Given the description of an element on the screen output the (x, y) to click on. 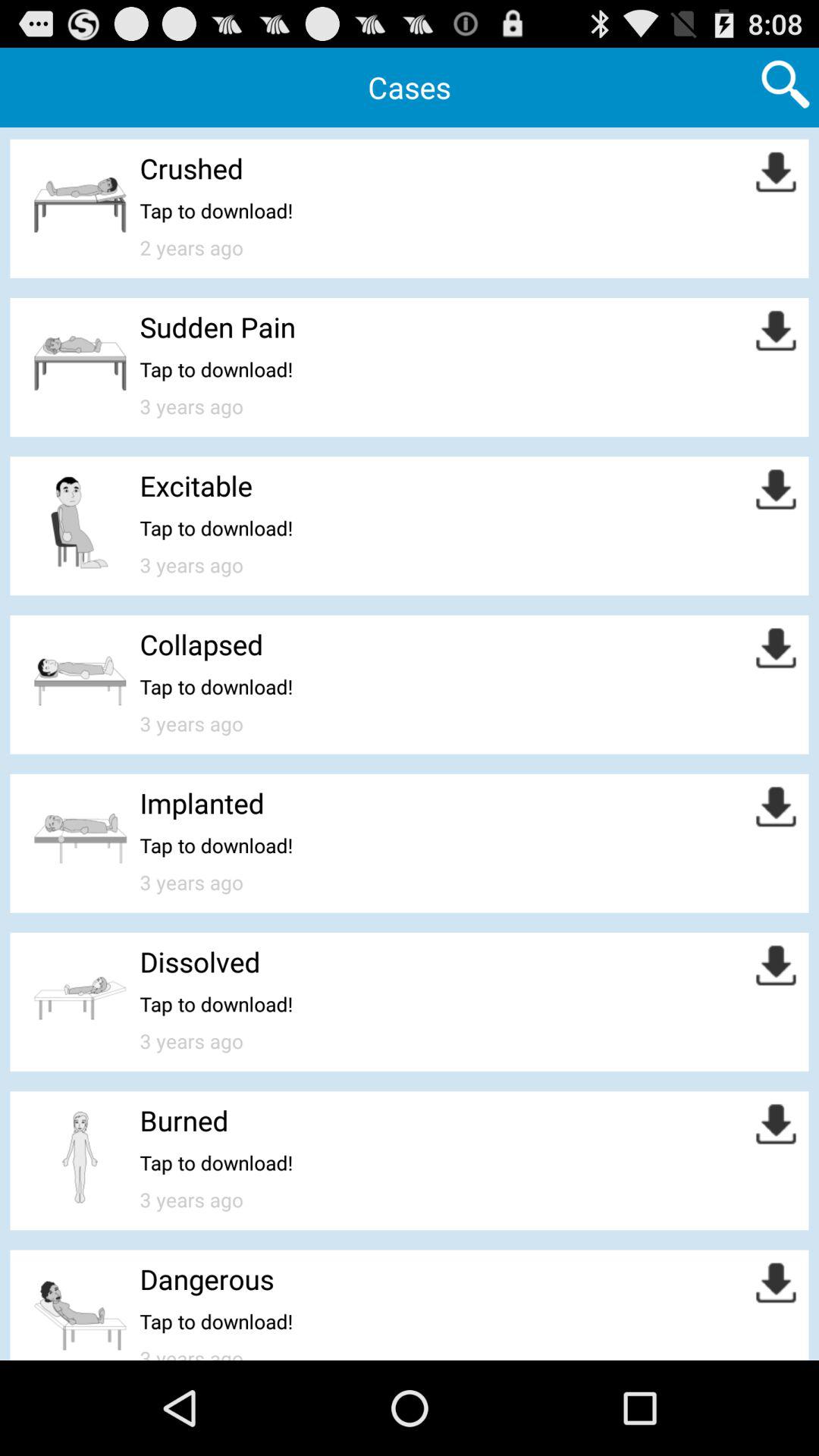
select crushed icon (191, 168)
